Given the description of an element on the screen output the (x, y) to click on. 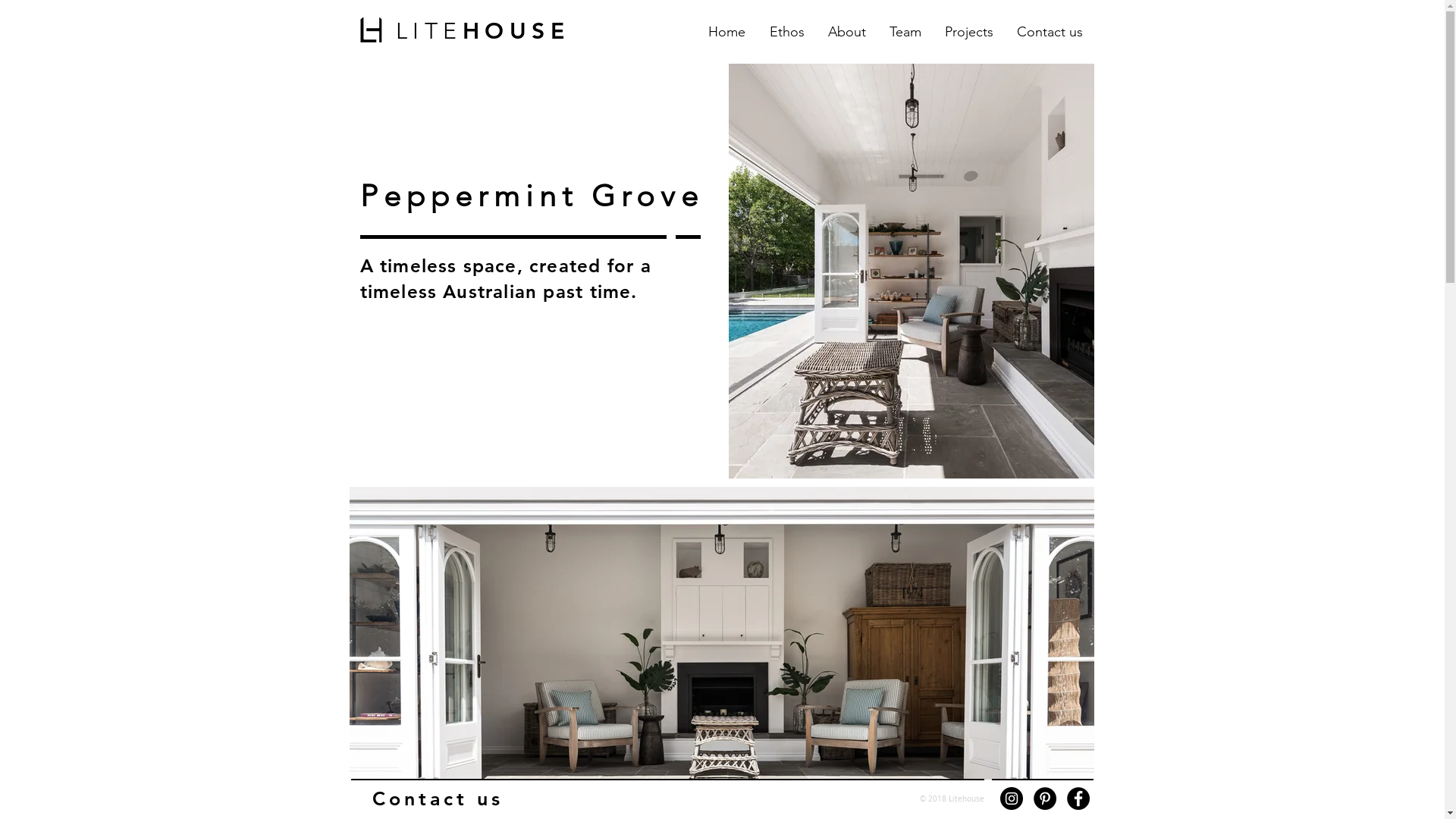
Home Element type: text (726, 31)
Contact us Element type: text (436, 798)
About Element type: text (846, 31)
Team Element type: text (905, 31)
LITE Element type: text (428, 30)
Contact us Element type: text (1050, 31)
Ethos Element type: text (787, 31)
HOUSE Element type: text (516, 30)
